Given the description of an element on the screen output the (x, y) to click on. 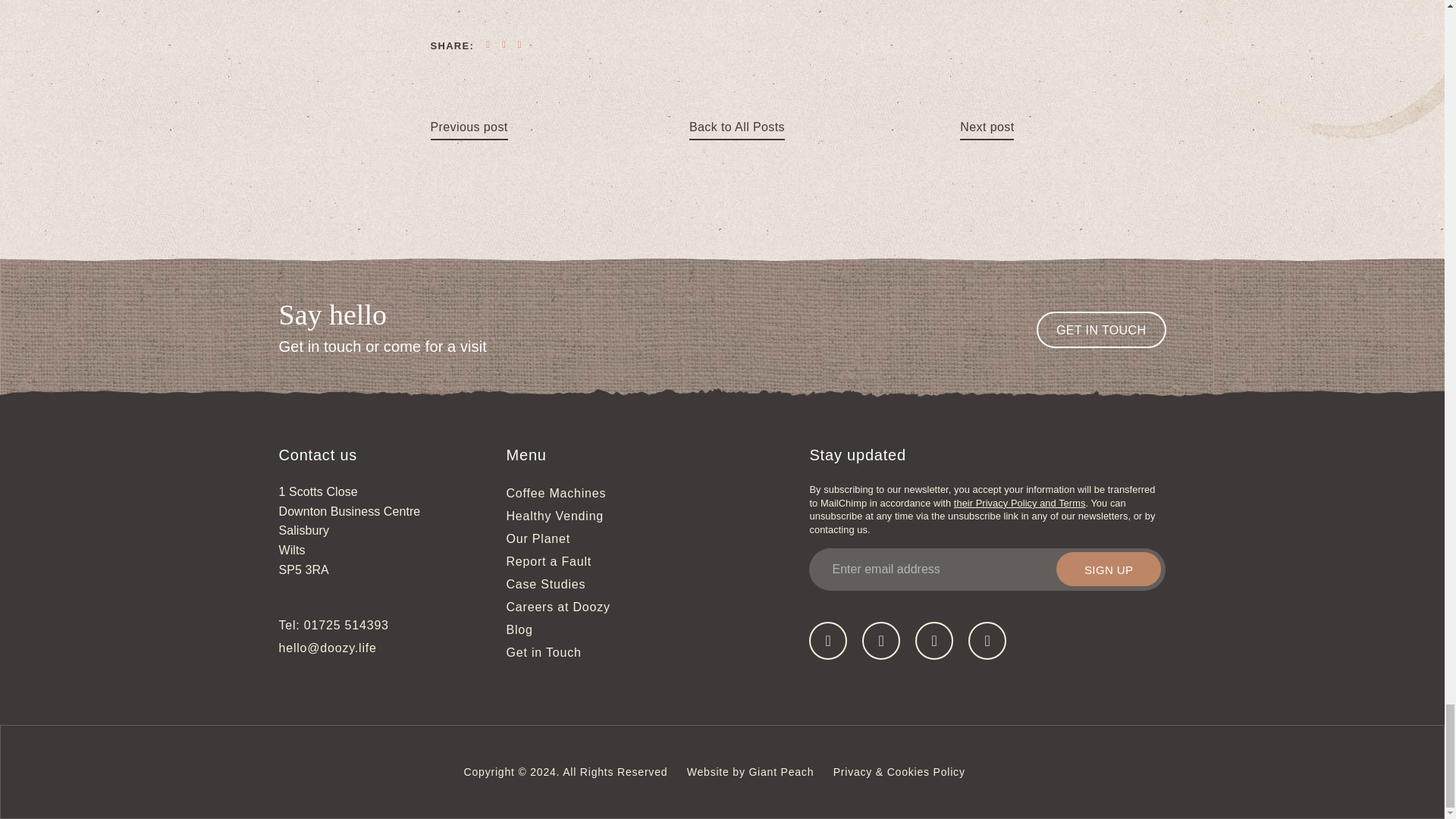
Next post (986, 128)
Careers at Doozy (558, 606)
Healthy Vending (555, 515)
Blog (519, 629)
Our Planet (538, 538)
Coffee Machines (556, 492)
The Coffee Bean Company on Instagram (987, 640)
SIGN UP (1109, 569)
Report a Fault (549, 561)
The Coffee Bean Company on Facebook (828, 640)
